Given the description of an element on the screen output the (x, y) to click on. 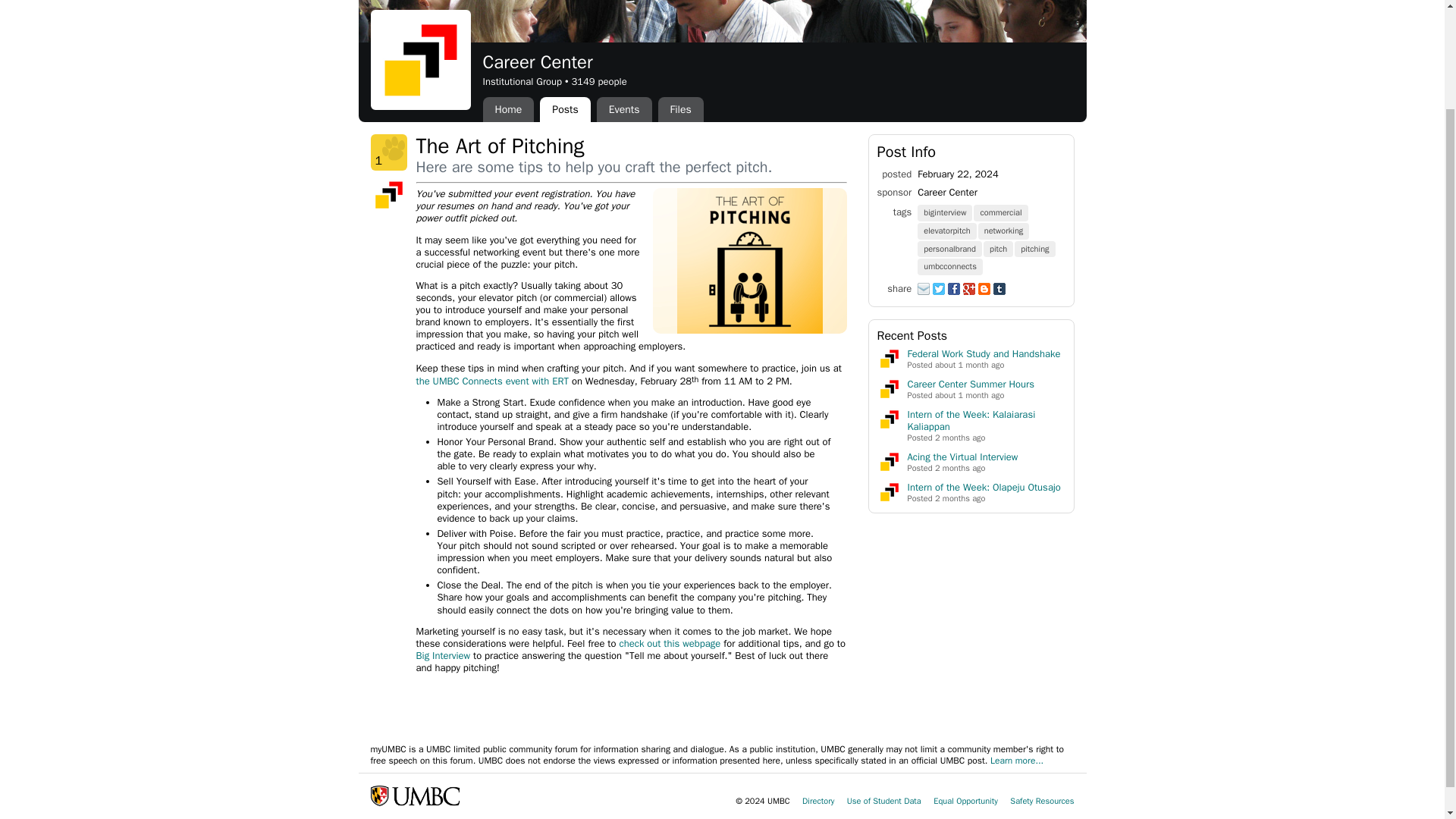
check out this webpage (669, 643)
Files (680, 109)
pitching (1035, 247)
personalbrand (950, 247)
umbcconnects (950, 265)
the UMBC Connects event with ERT (491, 380)
1 (387, 152)
Home (507, 109)
Big Interview (442, 655)
commercial (1001, 211)
biginterview (945, 211)
Posts (564, 109)
pitch (999, 247)
networking (1004, 229)
Events (624, 109)
